Given the description of an element on the screen output the (x, y) to click on. 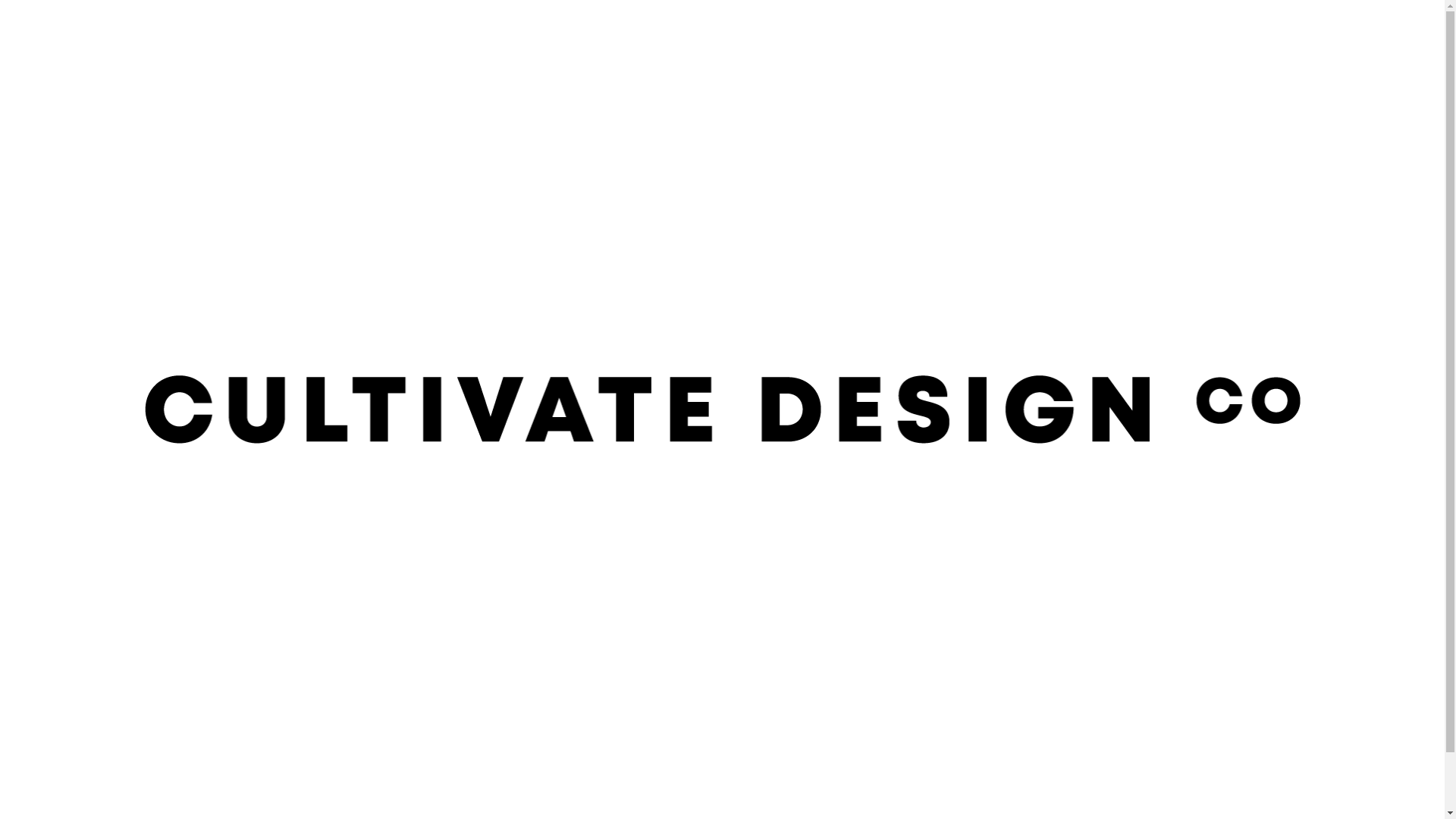
THE SHED Element type: text (324, 37)
Cart Element type: text (1225, 36)
CONTACT US Element type: text (608, 37)
Instagram Element type: text (1291, 37)
SHOP Element type: text (434, 37)
CONTACT US Element type: text (1063, 669)
CART Element type: text (722, 97)
ABOUT US Element type: text (523, 37)
STYLING DESIGN SERVICES Element type: text (737, 37)
Log in Element type: text (1191, 37)
Continue shopping Element type: text (721, 304)
Facebook Element type: text (1258, 37)
